Given the description of an element on the screen output the (x, y) to click on. 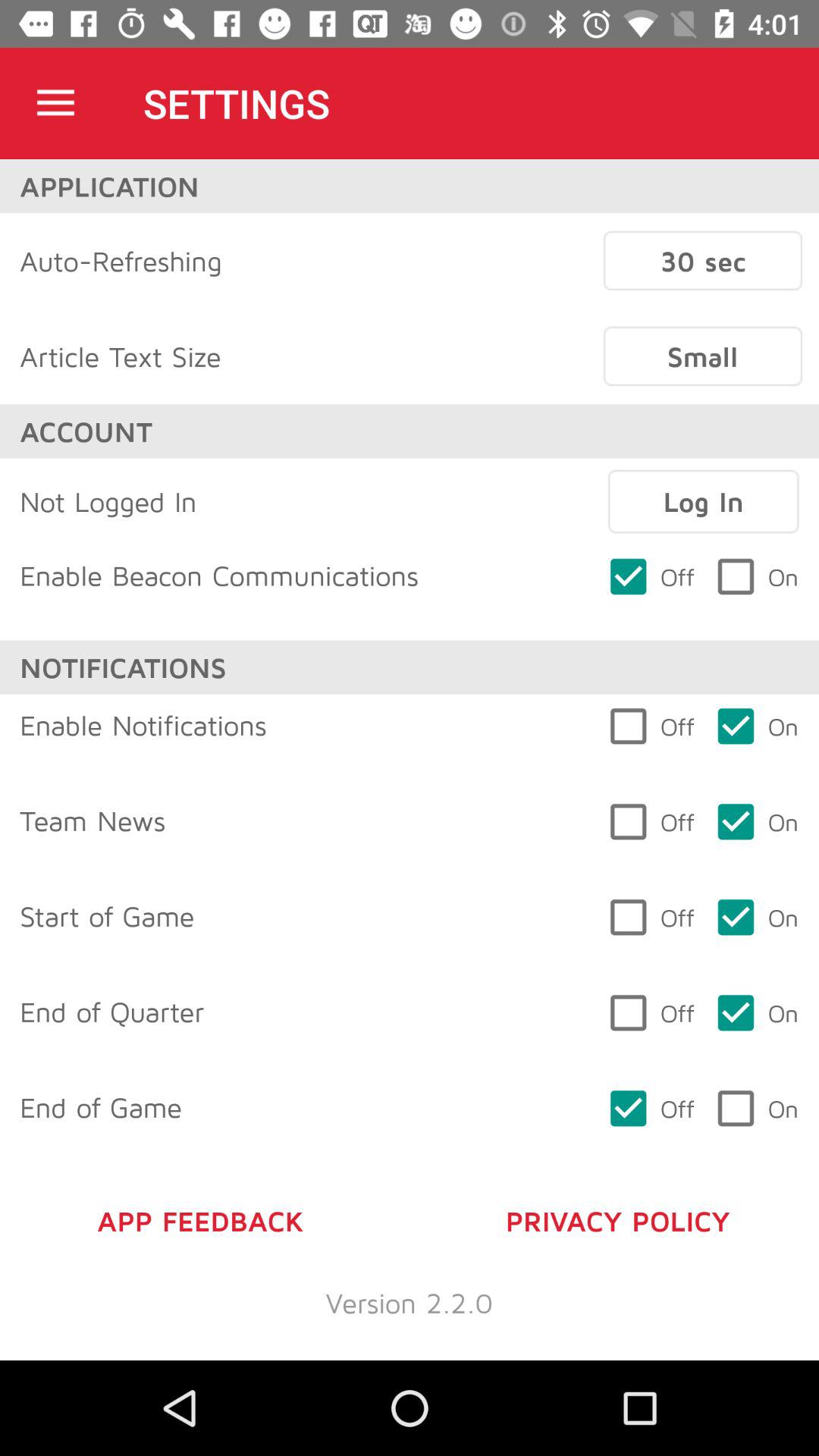
jump to version 2 2 item (409, 1302)
